Given the description of an element on the screen output the (x, y) to click on. 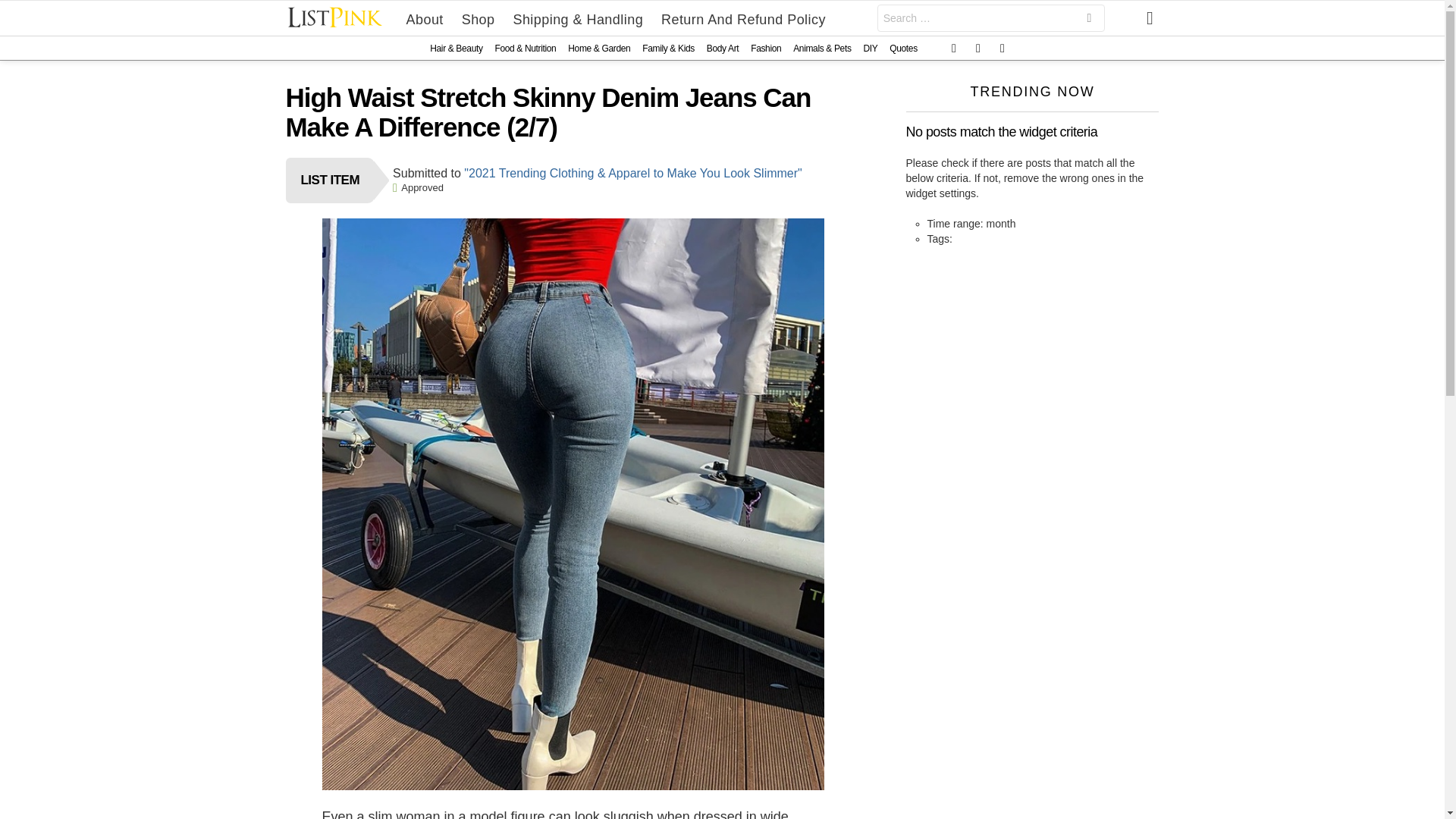
SEARCH (1089, 20)
Search for: (991, 17)
Body Art (722, 48)
pinterest (1002, 48)
Shop (478, 18)
Facebook (954, 48)
Quotes (903, 48)
Fashion (765, 48)
Return And Refund Policy (742, 18)
instagram (978, 48)
About (424, 18)
